Given the description of an element on the screen output the (x, y) to click on. 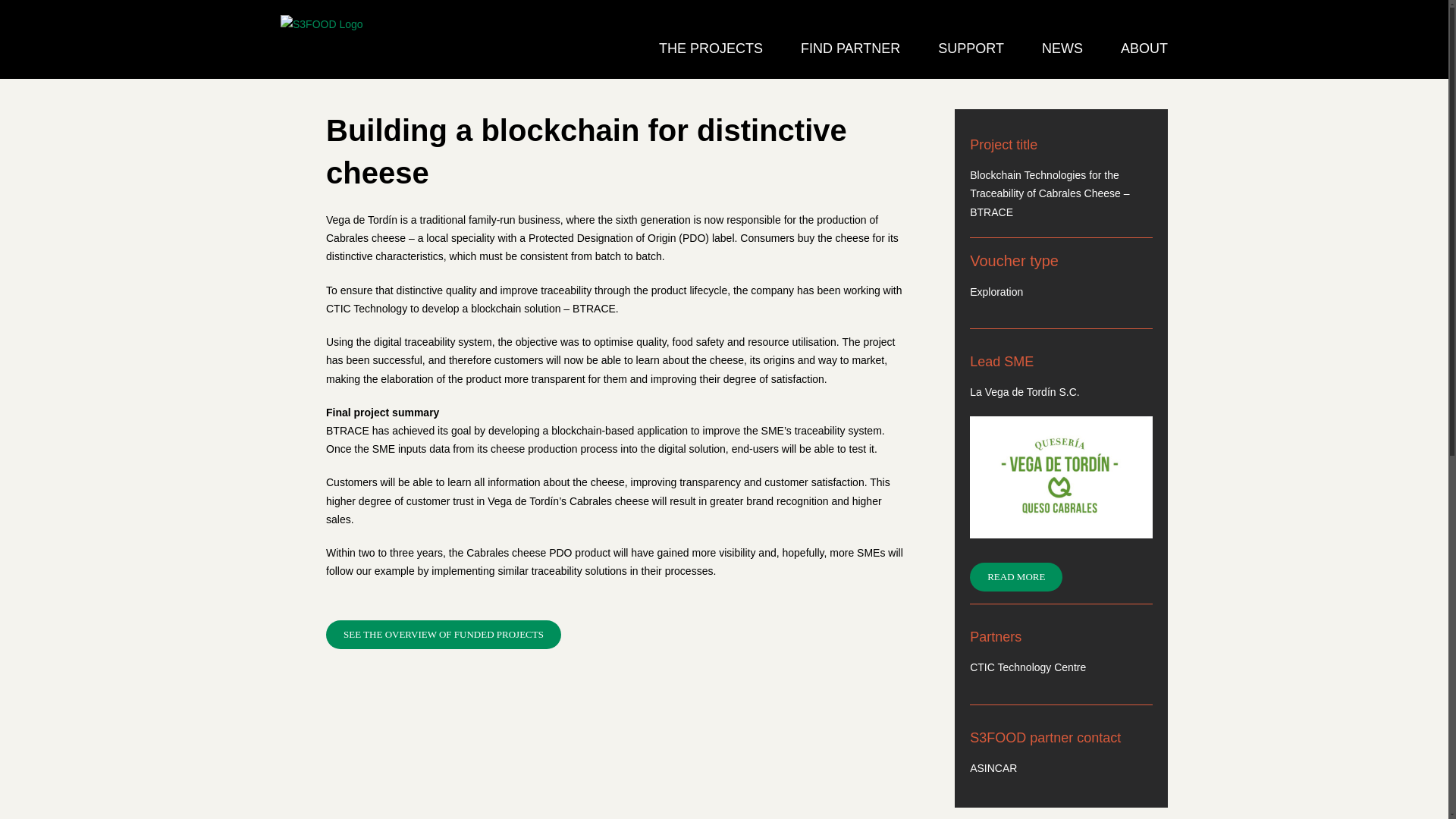
READ MORE (1015, 576)
SUPPORT (970, 46)
Meluna Research logo.001 (1061, 477)
ASINCAR (992, 767)
SEE THE OVERVIEW OF FUNDED PROJECTS (443, 634)
FIND PARTNER (849, 46)
CTIC Technology Centre (1027, 666)
THE PROJECTS (710, 46)
